Given the description of an element on the screen output the (x, y) to click on. 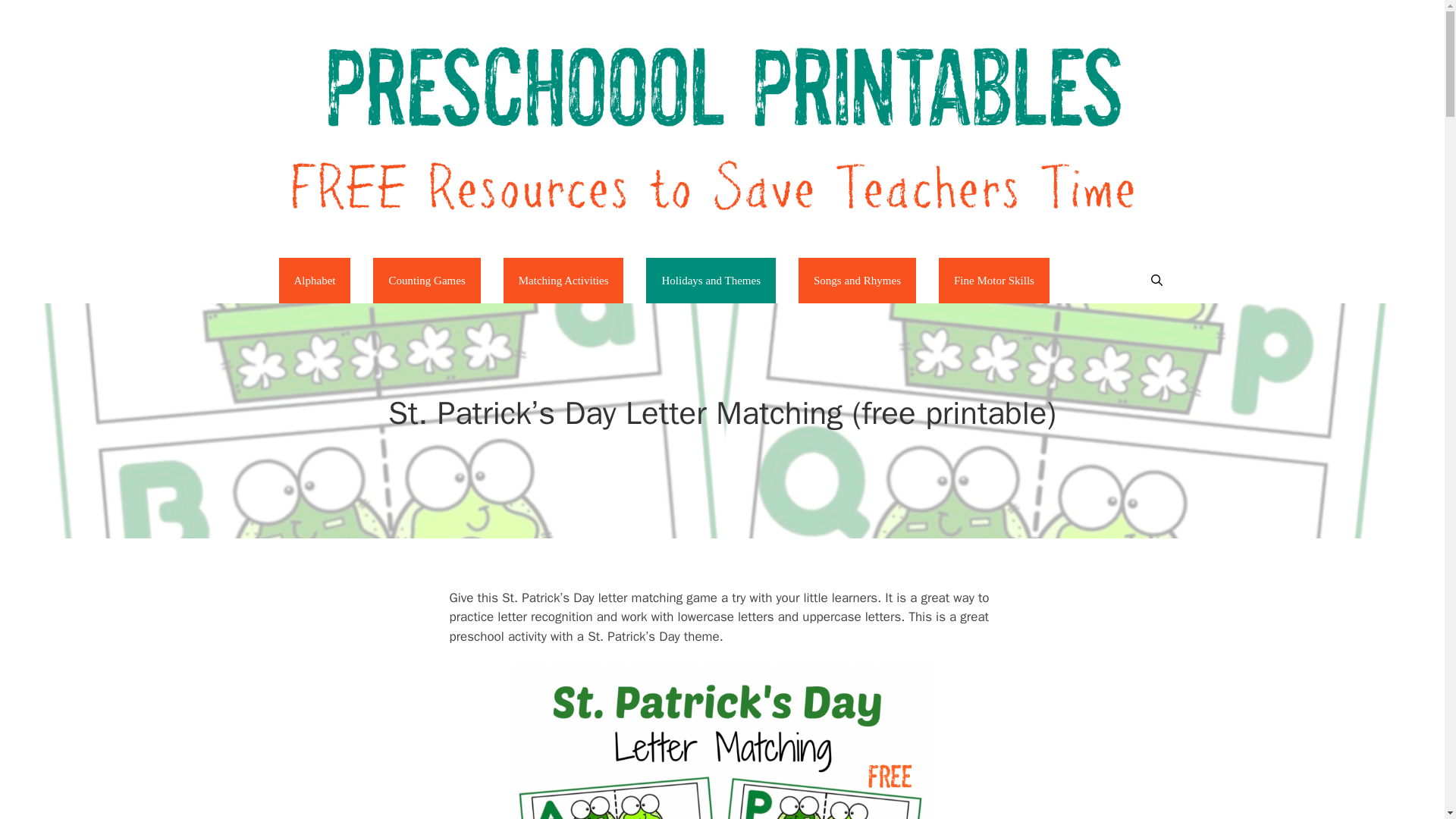
Songs and Rhymes (856, 280)
Matching Activities (563, 280)
Alphabet (314, 280)
Holidays and Themes (711, 280)
Free Preschool Printables (721, 127)
Counting Games (426, 280)
Fine Motor Skills (994, 280)
